Given the description of an element on the screen output the (x, y) to click on. 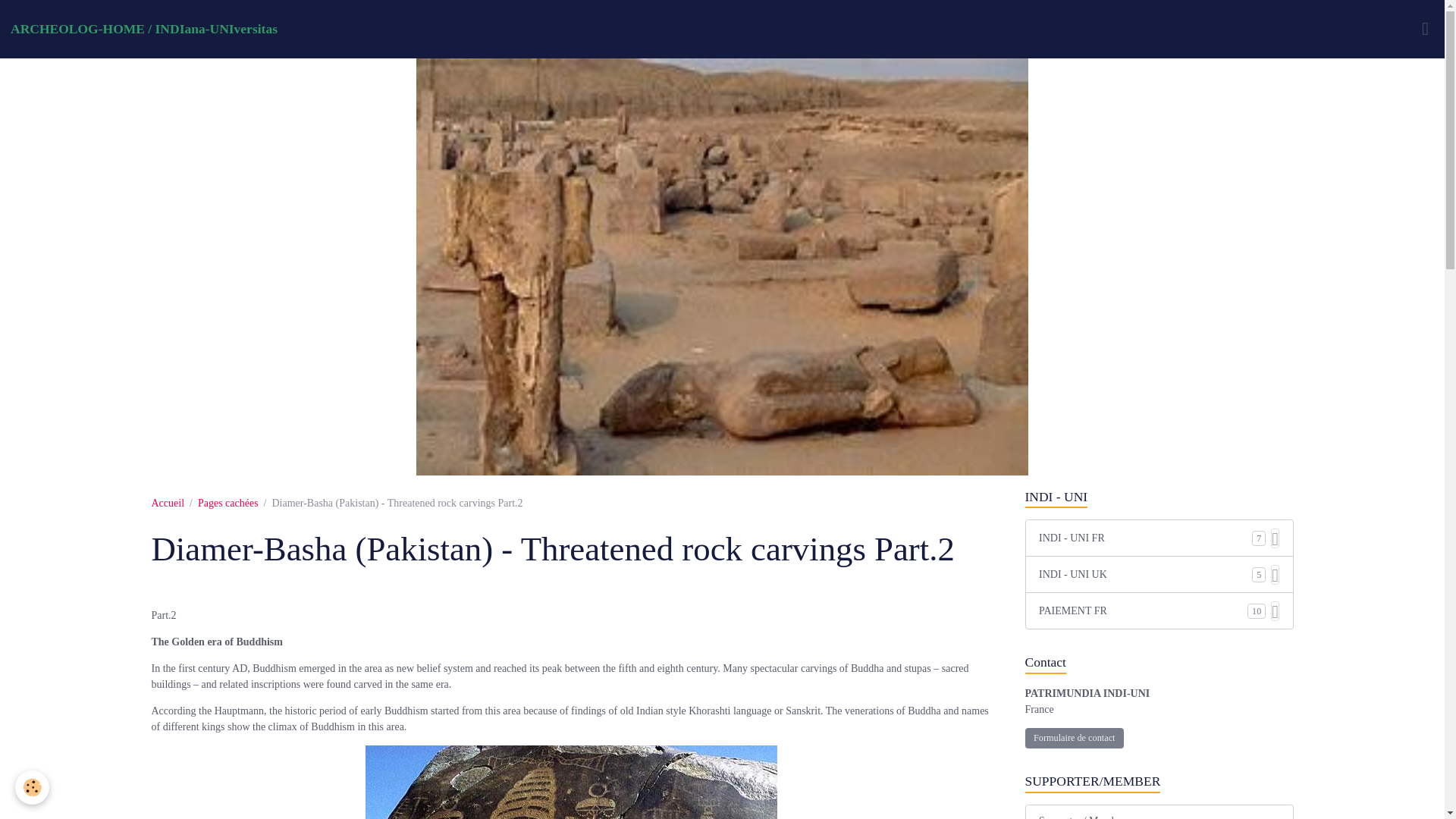
Accueil (167, 502)
INDI - UNI UK (1145, 574)
PAIEMENT FR (1143, 610)
INDI - UNI (1159, 496)
Formulaire de contact (1074, 738)
INDI - UNI FR (1145, 537)
